Given the description of an element on the screen output the (x, y) to click on. 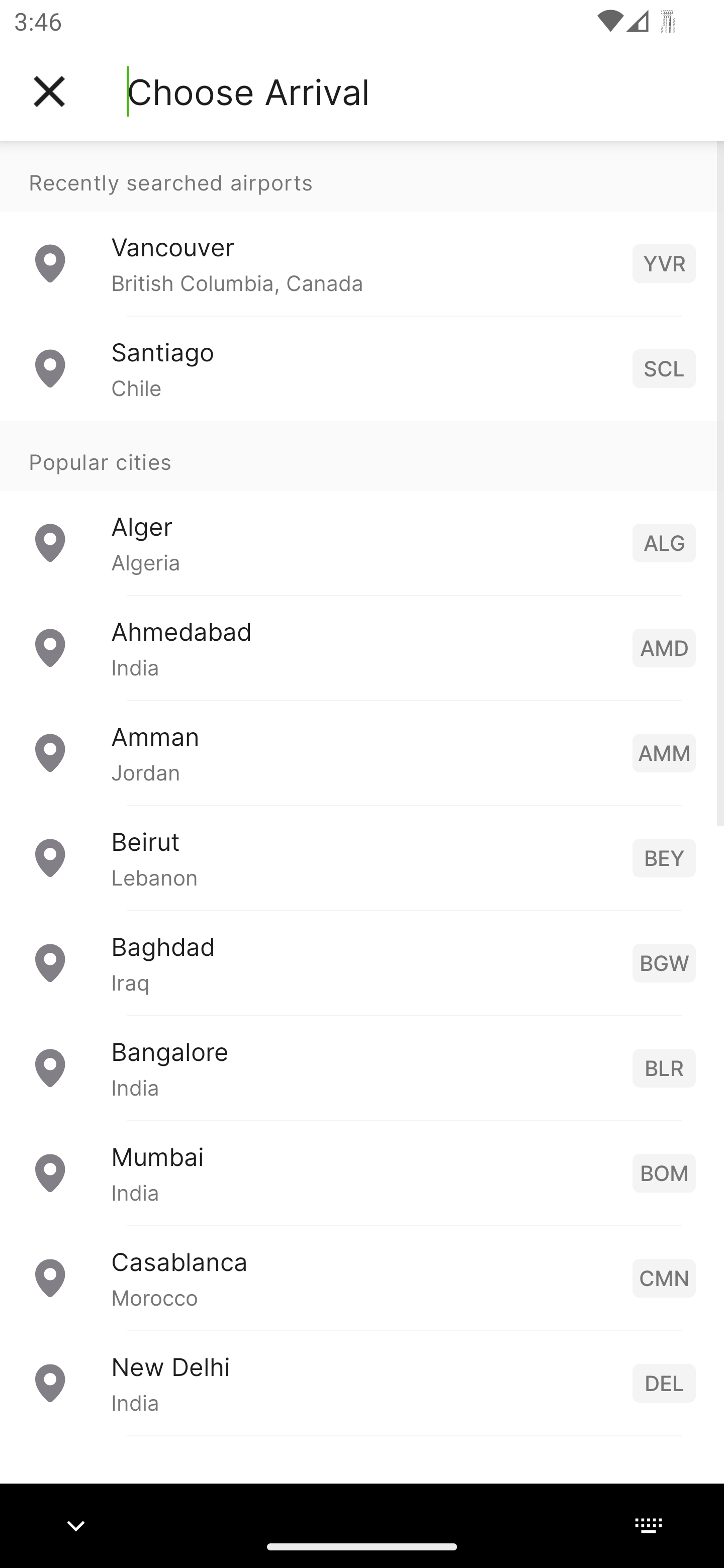
Choose Arrival (247, 91)
Recently searched airports (362, 176)
Santiago Chile SCL (362, 367)
Popular cities Alger Algeria ALG (362, 507)
Popular cities (362, 455)
Ahmedabad India AMD (362, 646)
Amman Jordan AMM (362, 751)
Beirut Lebanon BEY (362, 856)
Baghdad Iraq BGW (362, 961)
Bangalore India BLR (362, 1066)
Mumbai India BOM (362, 1171)
Casablanca Morocco CMN (362, 1276)
New Delhi India DEL (362, 1381)
